Given the description of an element on the screen output the (x, y) to click on. 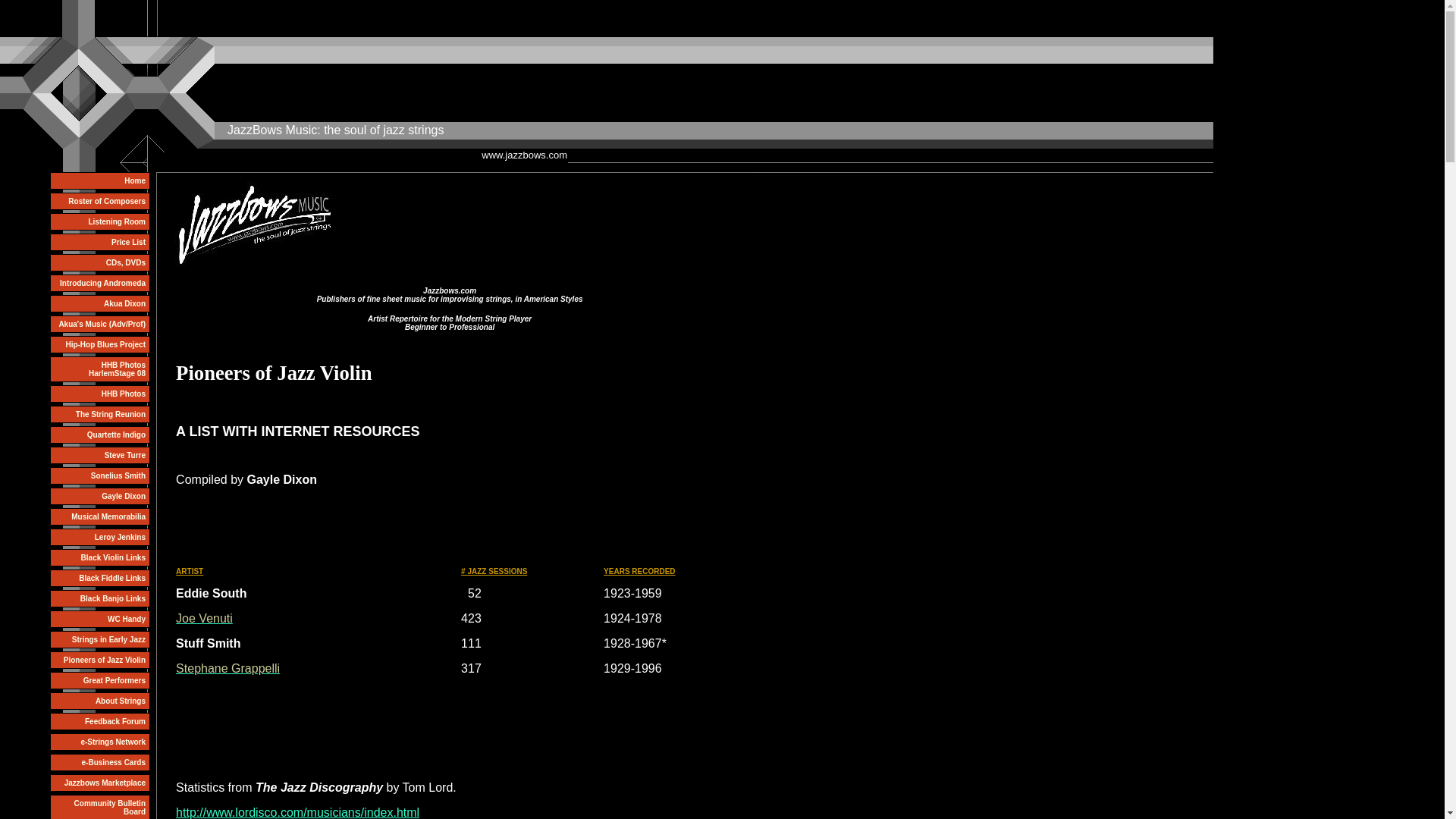
HHB Photos HarlemStage 08 (99, 369)
Black Violin Links (99, 557)
Black Fiddle Links (99, 578)
Roster of Composers (99, 200)
Strings in Early Jazz (99, 639)
Home (99, 180)
Quartette Indigo (99, 434)
Sonelius Smith (99, 475)
e-Strings Network (99, 742)
Gayle Dixon (99, 496)
Akua Dixon (99, 303)
Hip-Hop Blues Project (99, 343)
Steve Turre (99, 455)
About Strings (99, 701)
Introducing Andromeda (99, 282)
